Given the description of an element on the screen output the (x, y) to click on. 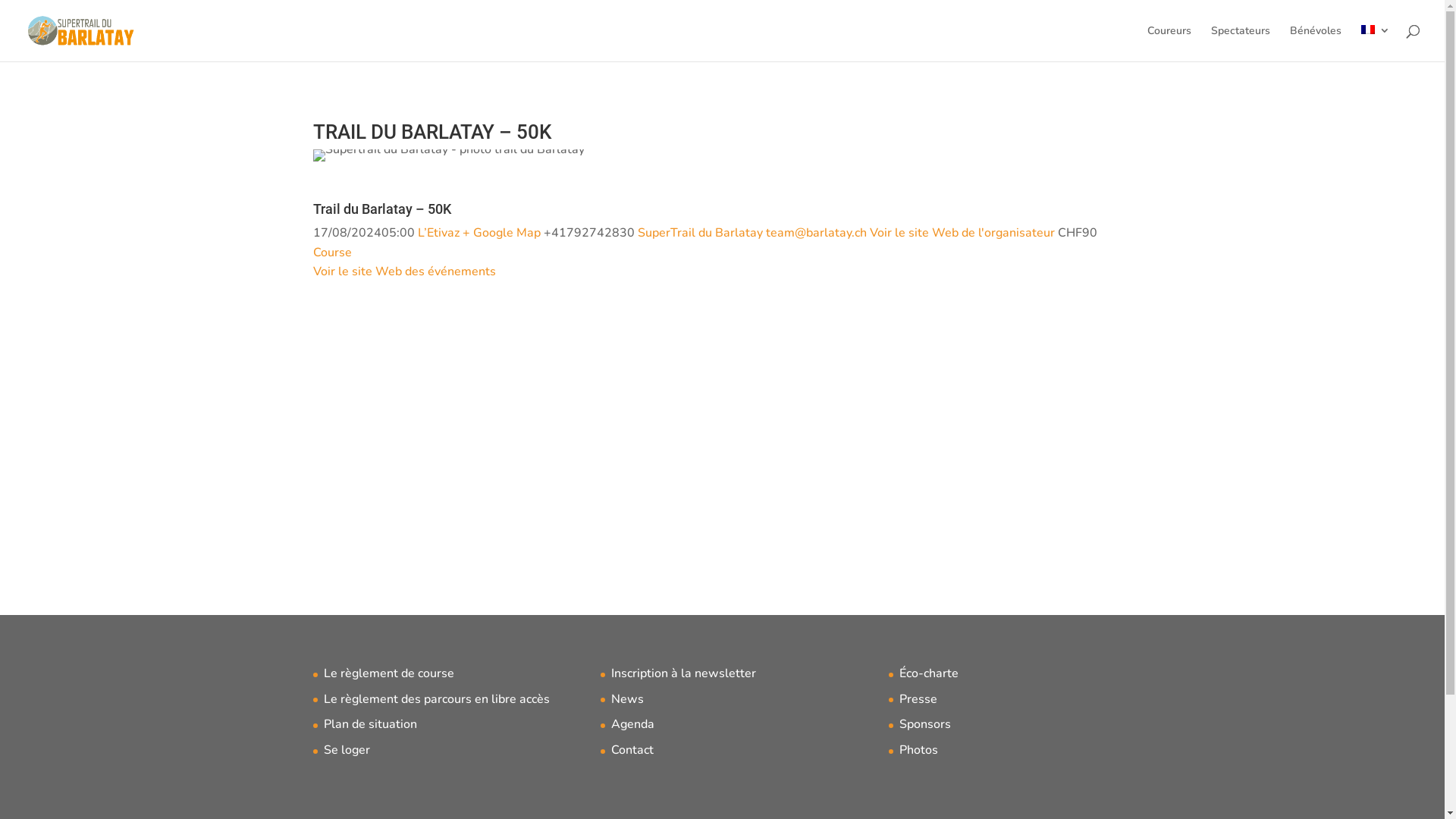
Coureurs Element type: text (1169, 43)
Plan de situation Element type: text (369, 723)
News Element type: text (627, 698)
Sponsors Element type: text (924, 723)
team@barlatay.ch Element type: text (815, 232)
Presse Element type: text (918, 698)
Spectateurs Element type: text (1240, 43)
Se loger Element type: text (346, 749)
+ Google Map Element type: text (501, 232)
Voir le site Web de l'organisateur Element type: text (961, 232)
Photos Element type: text (918, 749)
Contact Element type: text (632, 749)
Course Element type: text (331, 252)
SuperTrail du Barlatay Element type: text (699, 232)
Agenda Element type: text (632, 723)
trail Element type: hover (447, 155)
